Given the description of an element on the screen output the (x, y) to click on. 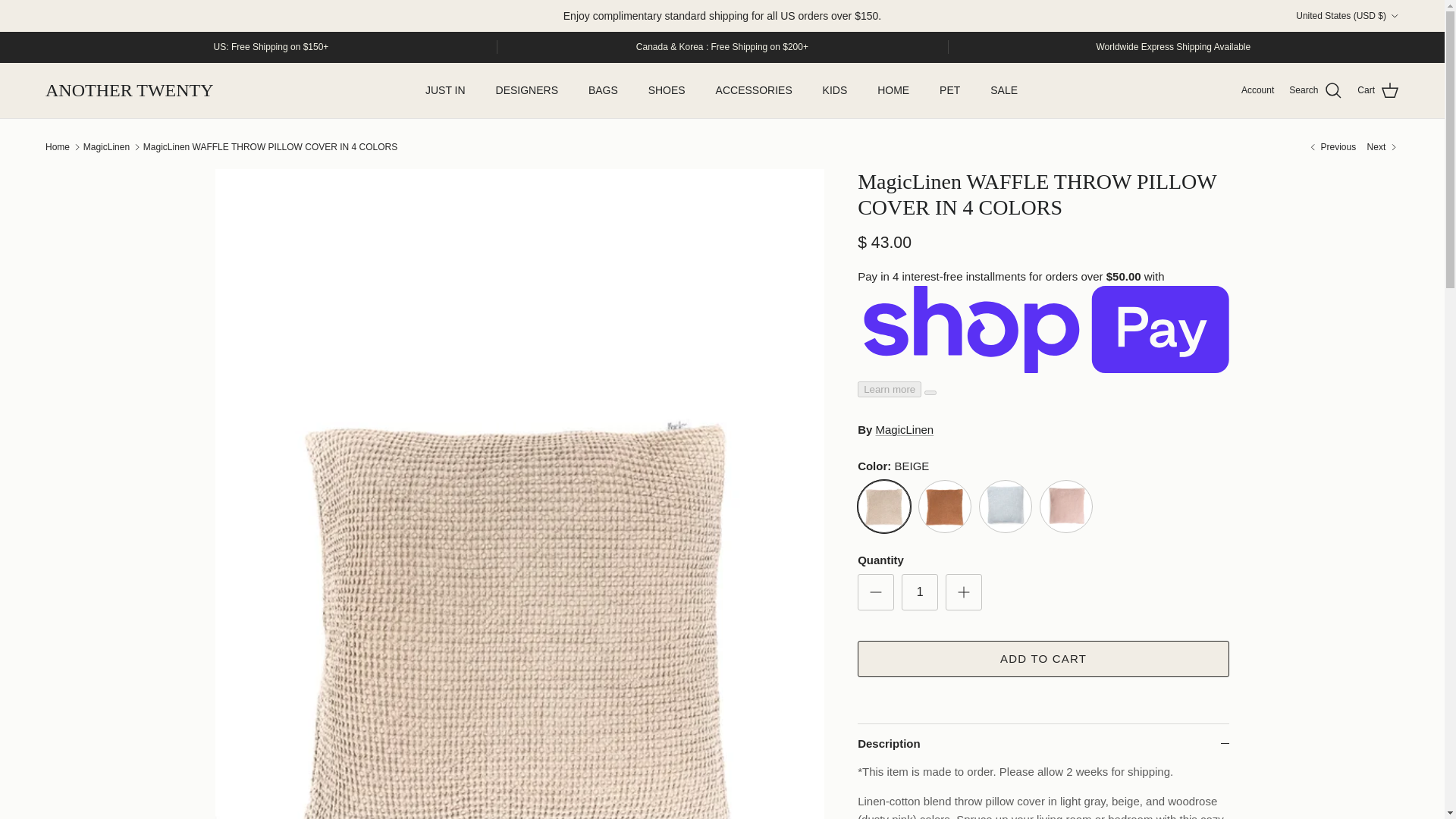
HOME (893, 90)
PET (950, 90)
SHOES (666, 90)
BAGS (603, 90)
Search (1315, 90)
ACCESSORIES (753, 90)
ANOTHER TWENTY (129, 90)
1 (919, 592)
KIDS (835, 90)
MagicLinen WAFFLE BATH TOWEL IN 12 COLORS (1331, 146)
